Given the description of an element on the screen output the (x, y) to click on. 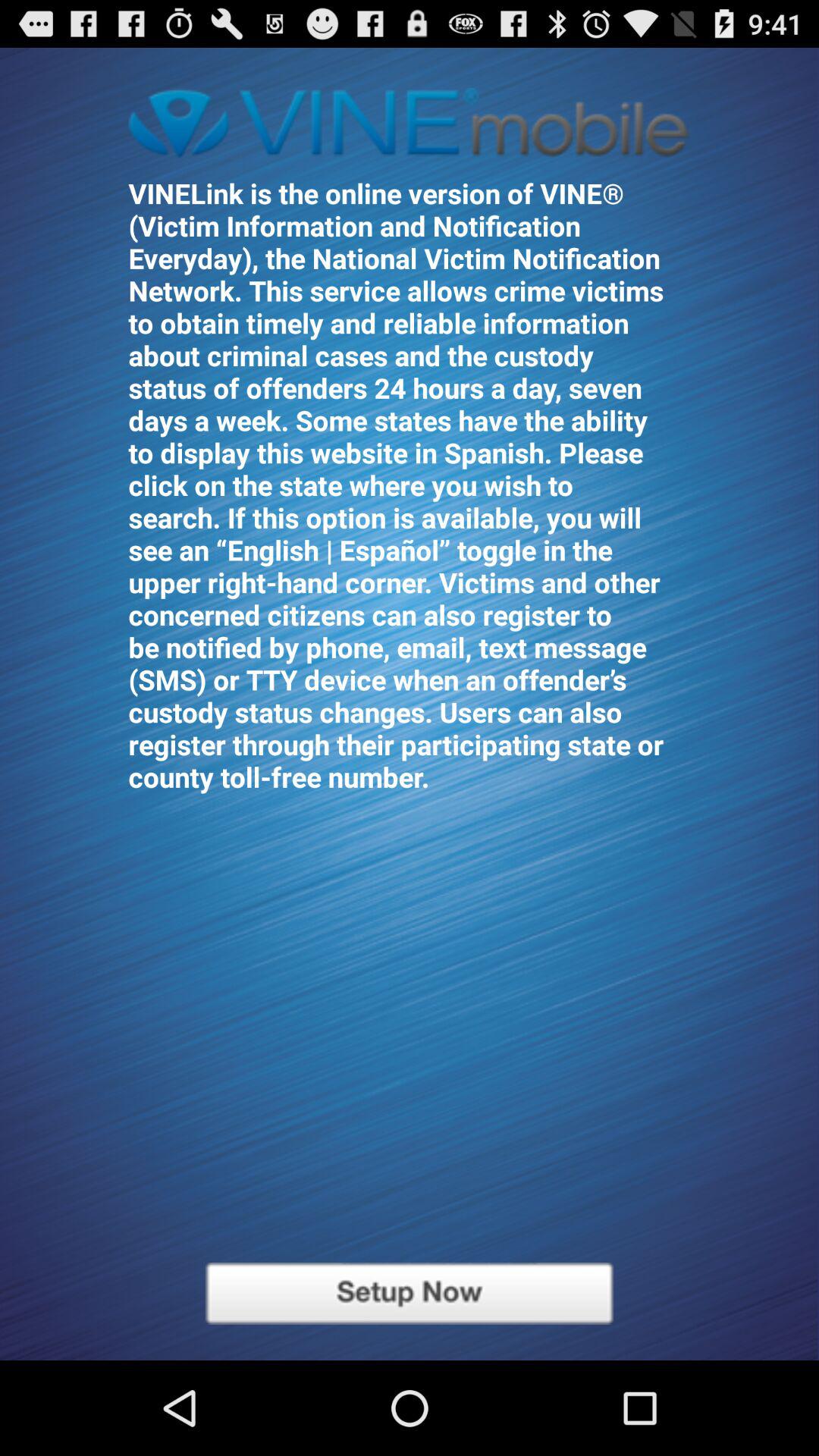
turn off item below the vinelink is the icon (409, 1293)
